Given the description of an element on the screen output the (x, y) to click on. 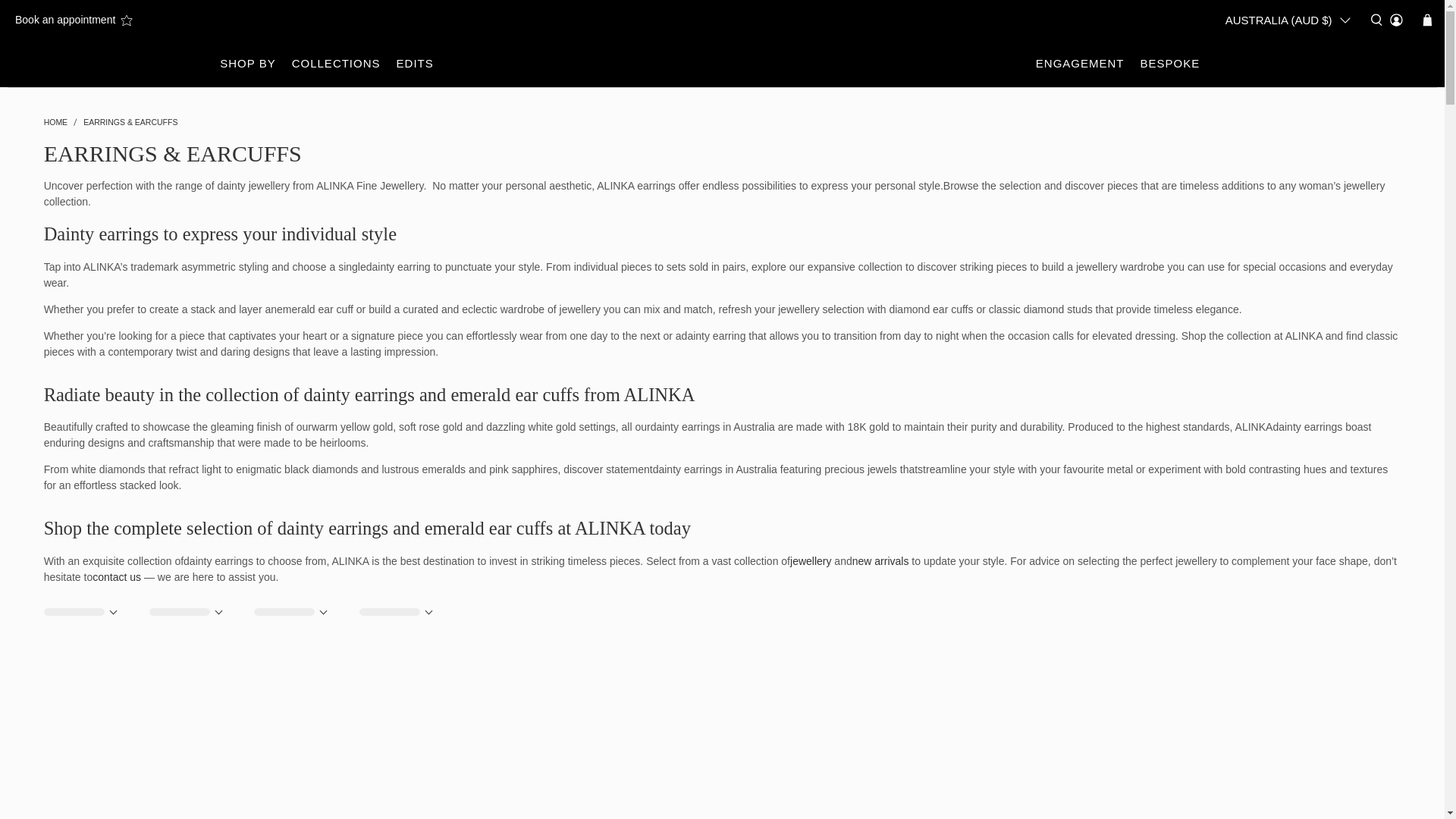
BD (1282, 590)
AW (1282, 375)
AD (1282, 193)
AI (1282, 248)
AF (1282, 60)
BJ (1282, 737)
ALINKA Fine Jewellery (722, 63)
BM (1282, 766)
BE (1282, 682)
BT (1282, 794)
